Given the description of an element on the screen output the (x, y) to click on. 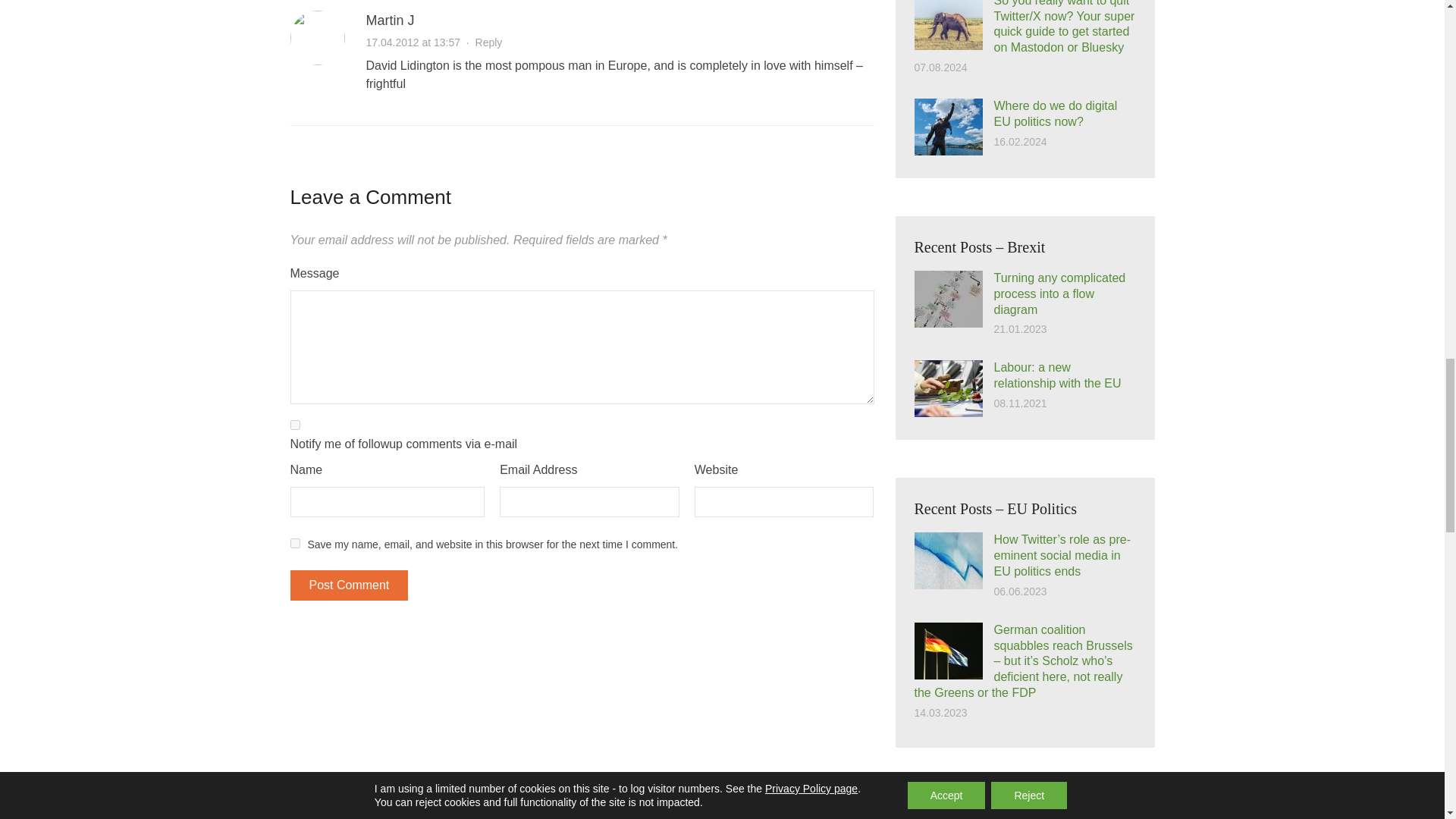
Post Comment (348, 585)
yes (294, 542)
subscribe (294, 424)
